Given the description of an element on the screen output the (x, y) to click on. 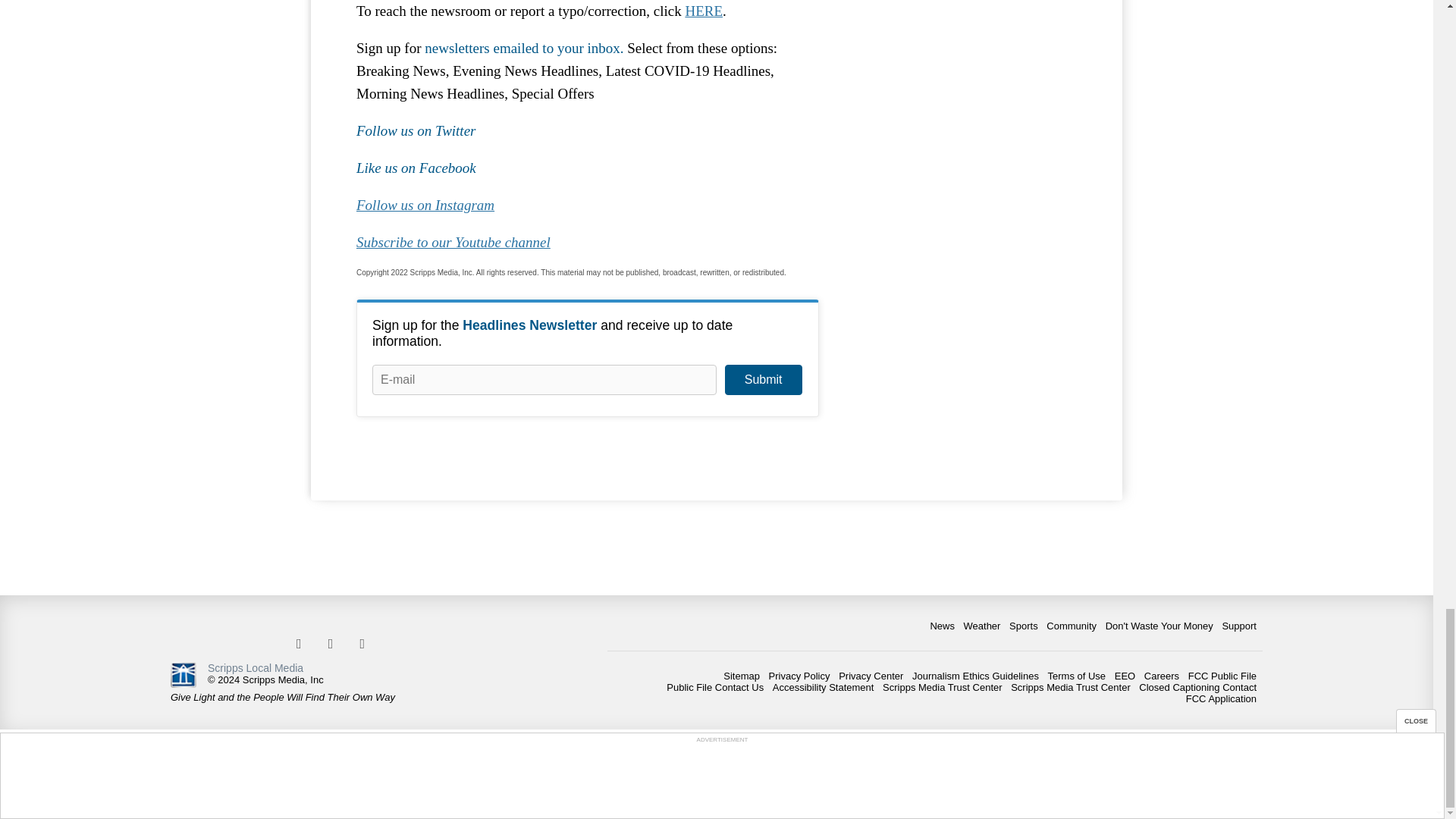
Submit (763, 379)
